Given the description of an element on the screen output the (x, y) to click on. 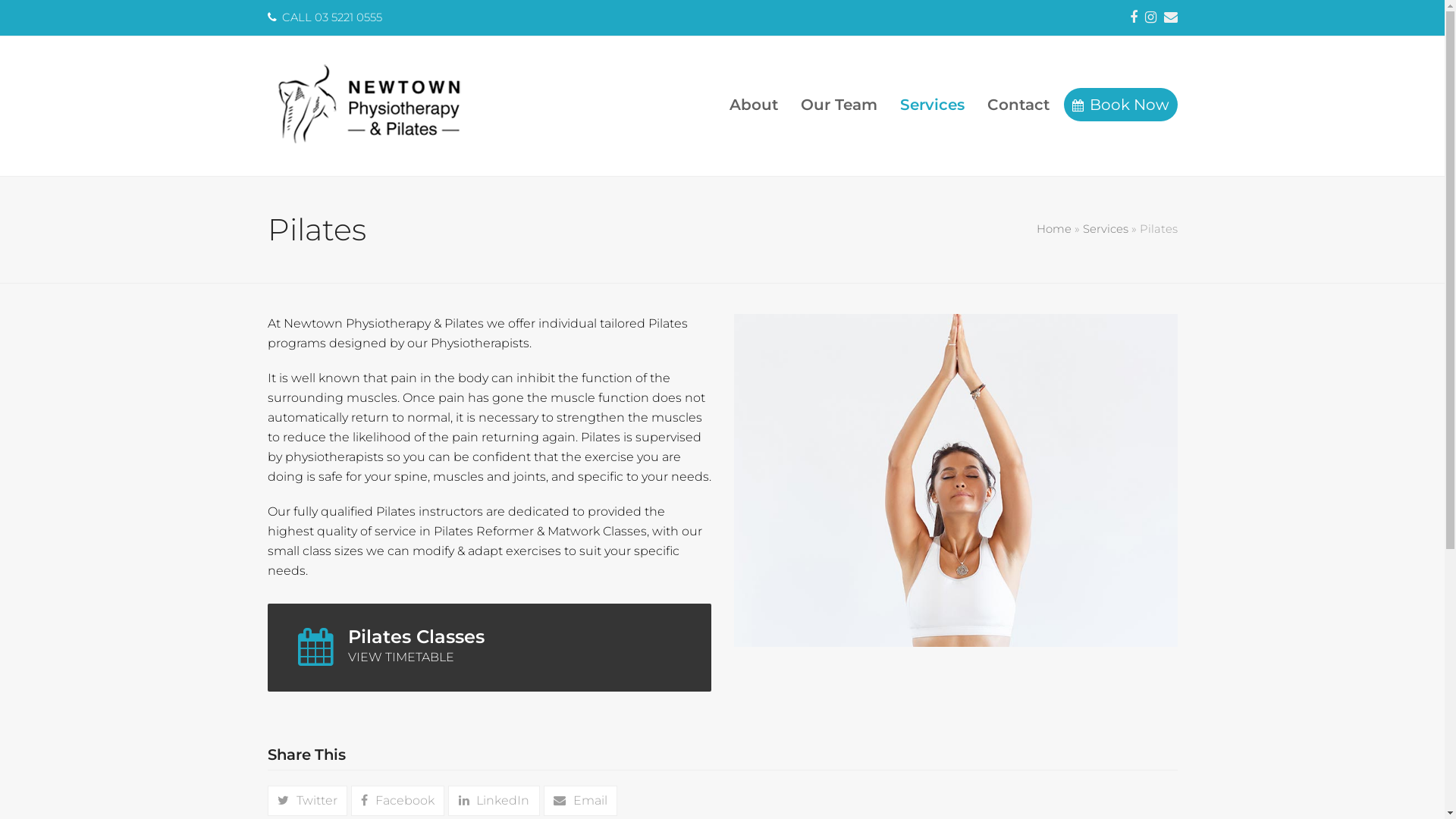
Facebook Element type: text (1133, 17)
Facebook Element type: text (397, 800)
About Element type: text (752, 106)
Instagram Element type: text (1150, 17)
Home Element type: text (1052, 228)
Services Element type: text (931, 106)
pilates-photo Element type: hover (955, 479)
Email Element type: text (580, 800)
Twitter Element type: text (306, 800)
Services Element type: text (1105, 228)
LinkedIn Element type: text (493, 800)
Contact Element type: text (1017, 106)
Book Now Element type: text (1119, 106)
Our Team Element type: text (838, 106)
Pilates Classes Element type: text (524, 636)
Email Element type: text (1169, 17)
